Given the description of an element on the screen output the (x, y) to click on. 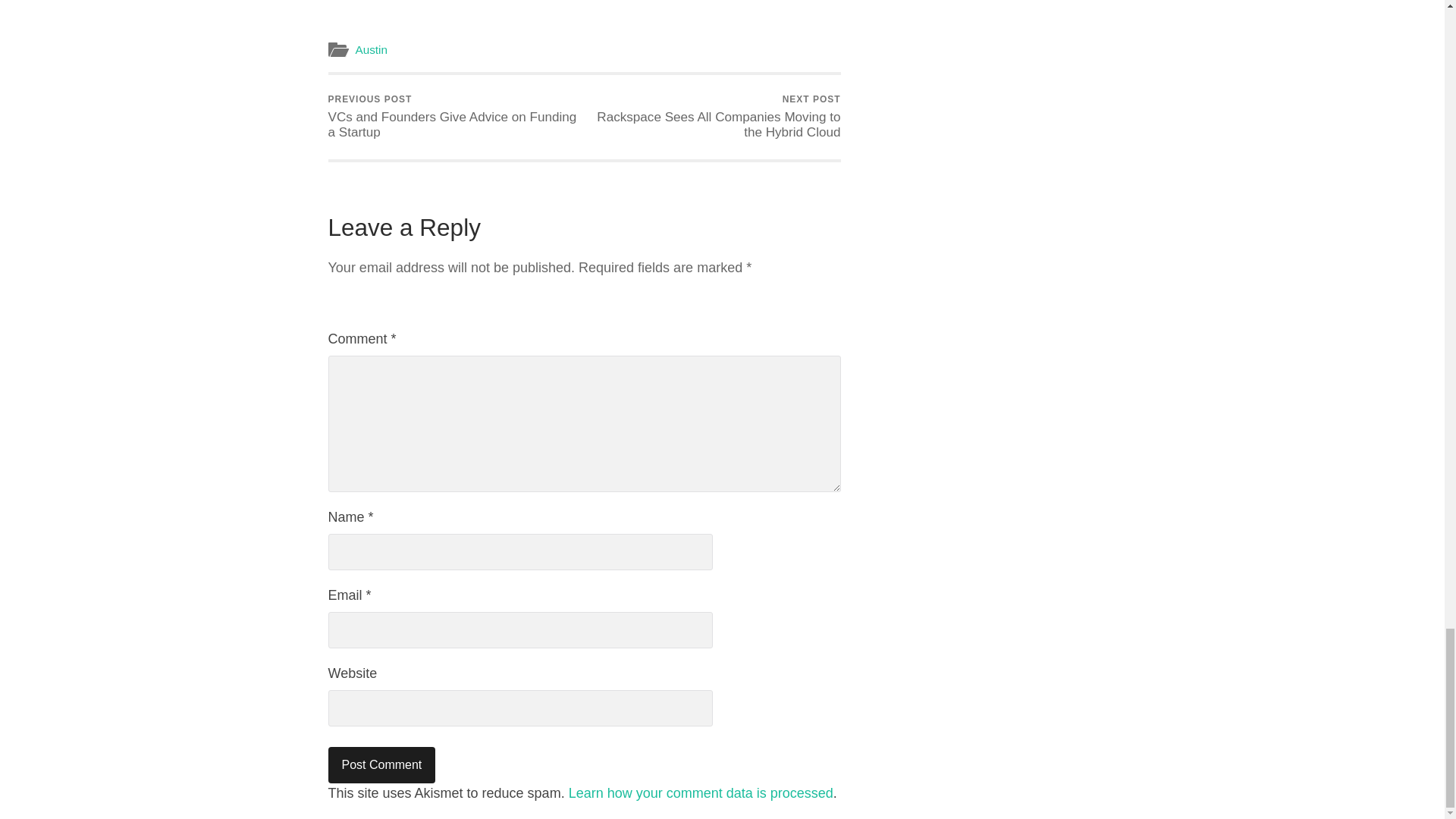
Austin (371, 49)
Learn how your comment data is processed (700, 792)
Post Comment (381, 764)
Post Comment (381, 764)
